Given the description of an element on the screen output the (x, y) to click on. 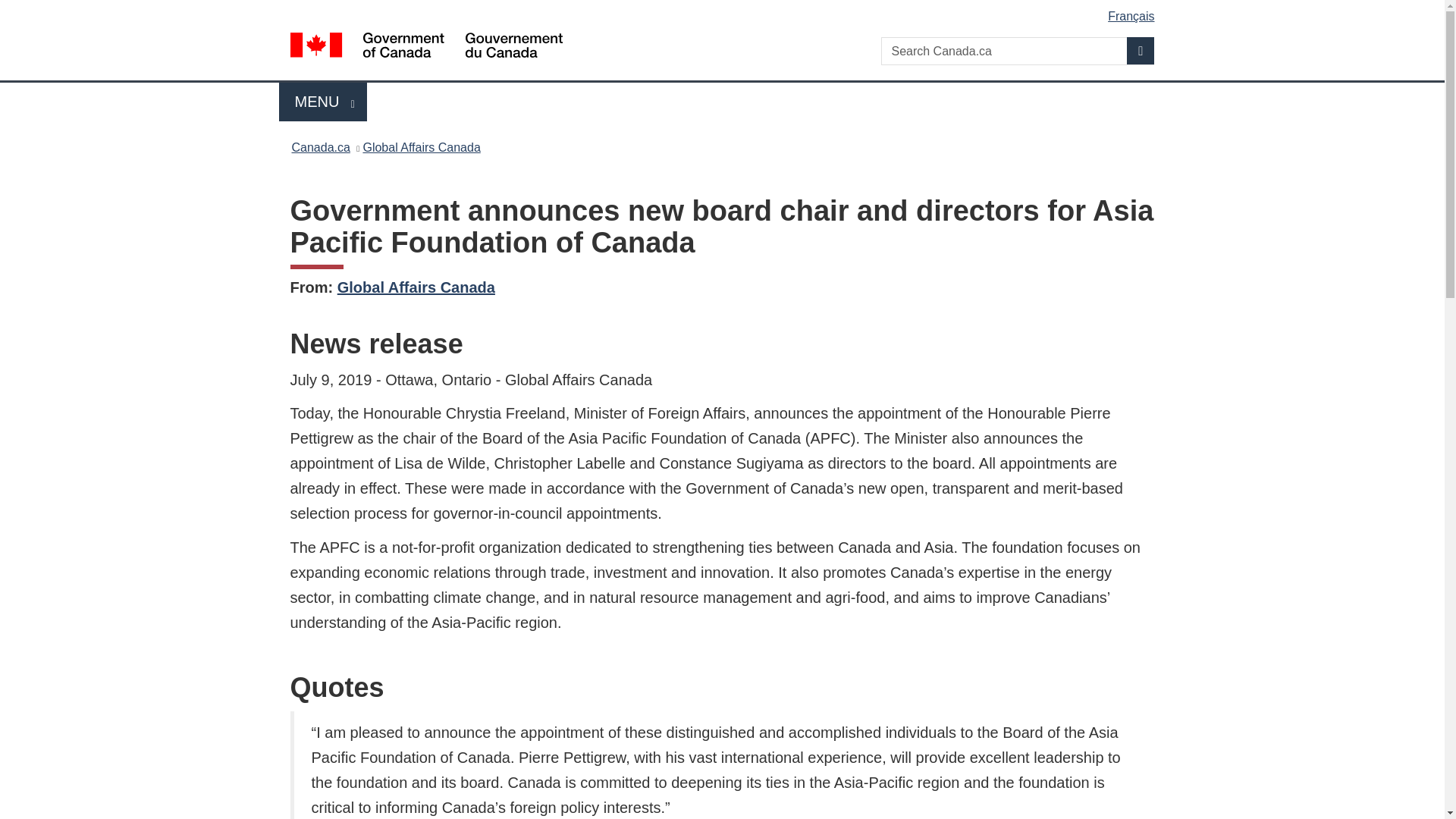
Global Affairs Canada (416, 287)
Global Affairs Canada (421, 147)
Skip to main content (725, 11)
Search (1140, 50)
Canada.ca (320, 147)
